Given the description of an element on the screen output the (x, y) to click on. 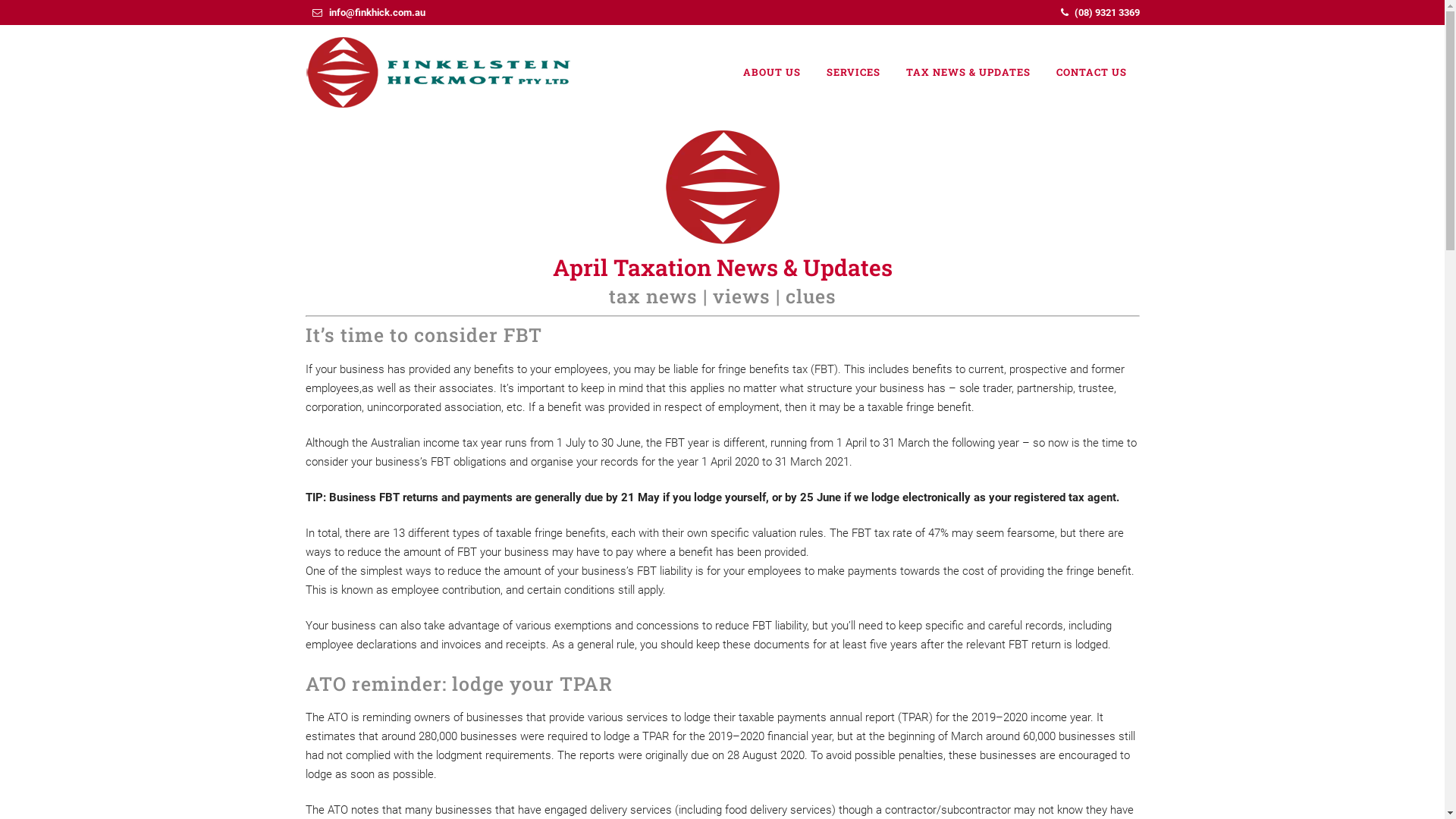
SERVICES Element type: text (852, 72)
Announcements Element type: text (450, 99)
TAX NEWS & UPDATES Element type: text (968, 72)
(08) 9321 3369 Element type: text (1106, 12)
info@finkhick.com.au Element type: text (377, 12)
CONTACT US Element type: text (1091, 72)
Judi Cramp Element type: text (538, 99)
ABOUT US Element type: text (770, 72)
